Given the description of an element on the screen output the (x, y) to click on. 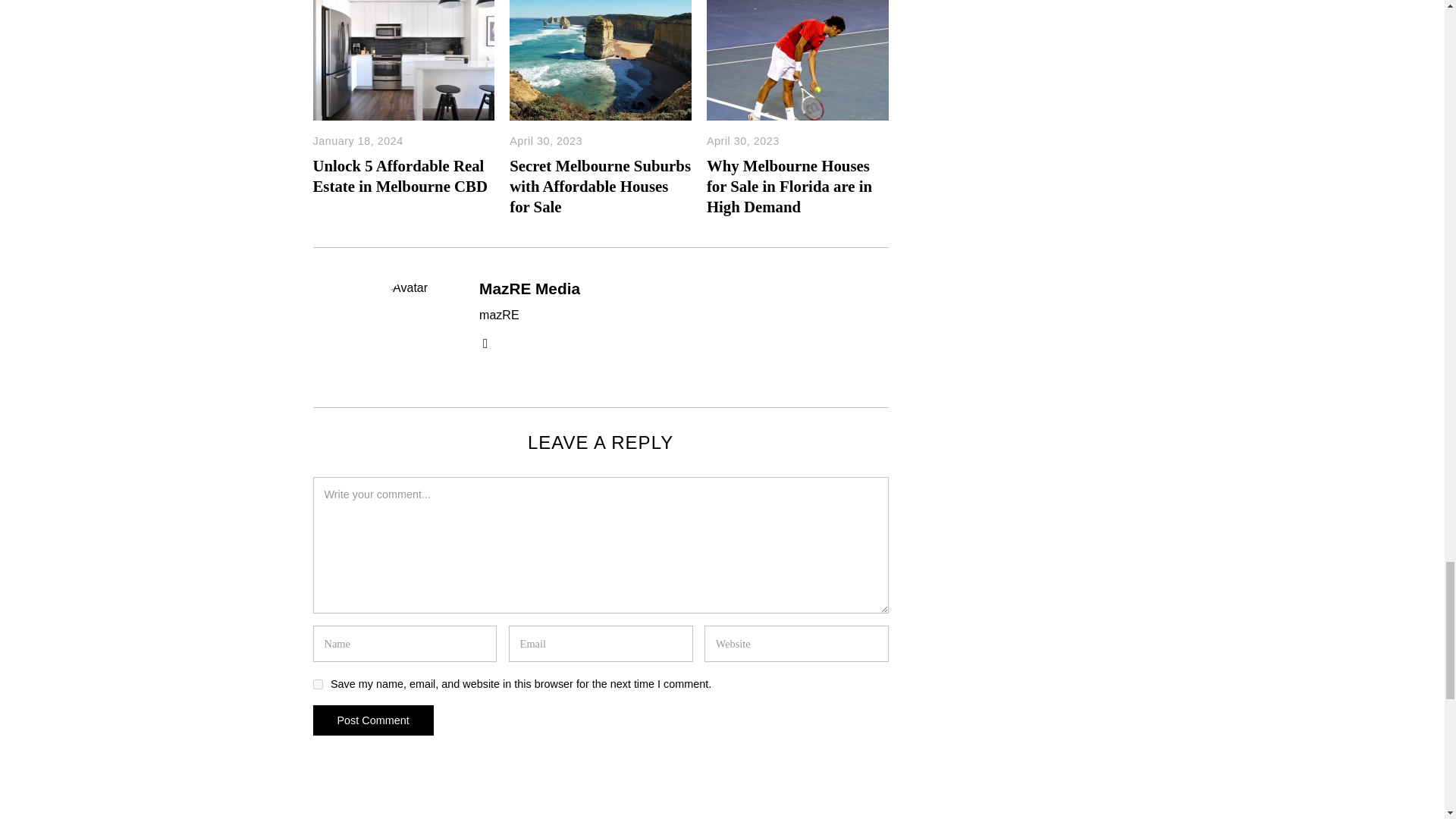
Post Comment (372, 720)
Unlock 5 Affordable Real Estate in Melbourne CBD (400, 175)
yes (317, 684)
Why Melbourne Houses for Sale in Florida are in High Demand (789, 186)
Secret Melbourne Suburbs with Affordable Houses for Sale (599, 186)
